Given the description of an element on the screen output the (x, y) to click on. 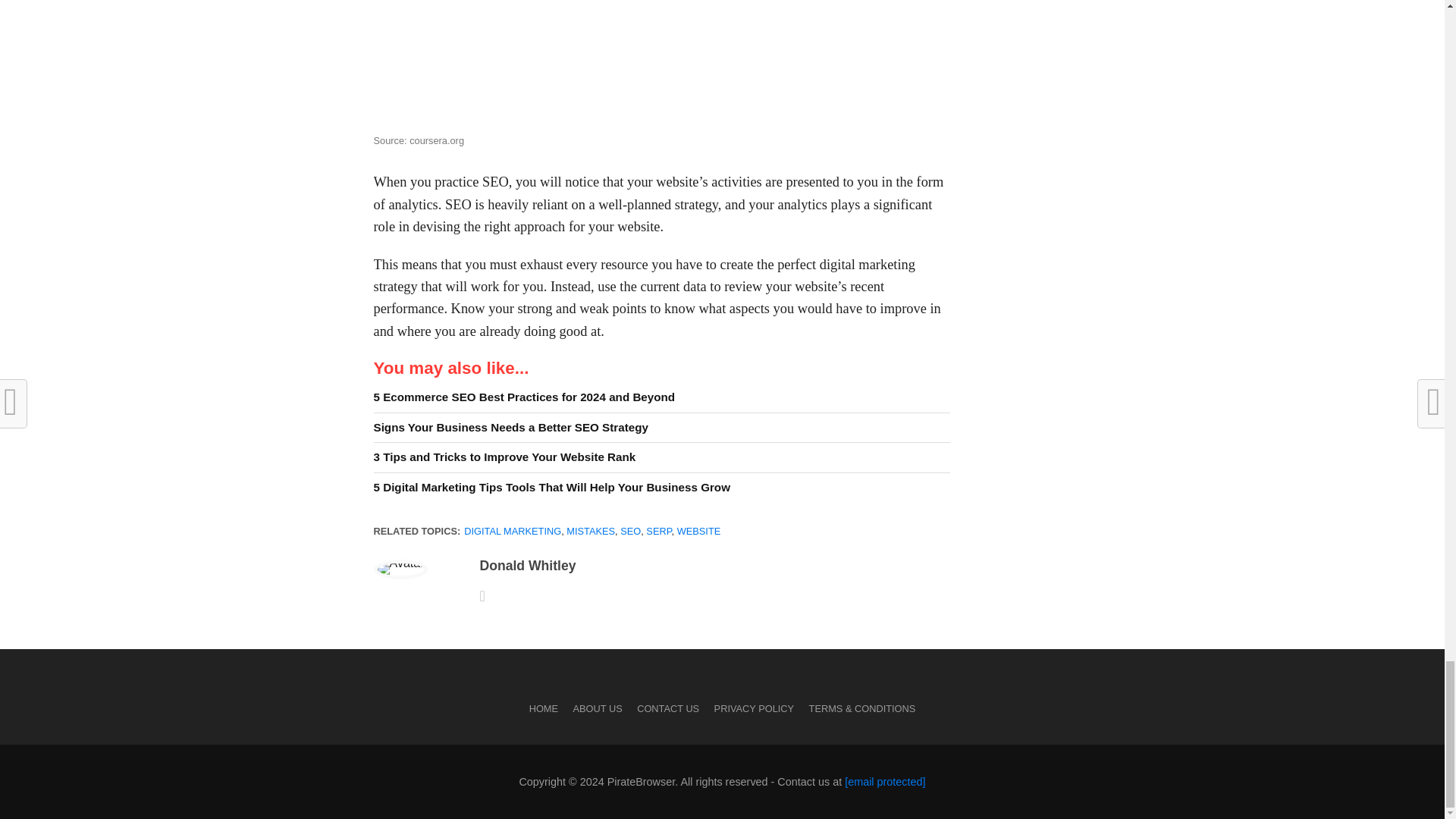
Posts by Donald Whitley (527, 565)
